Given the description of an element on the screen output the (x, y) to click on. 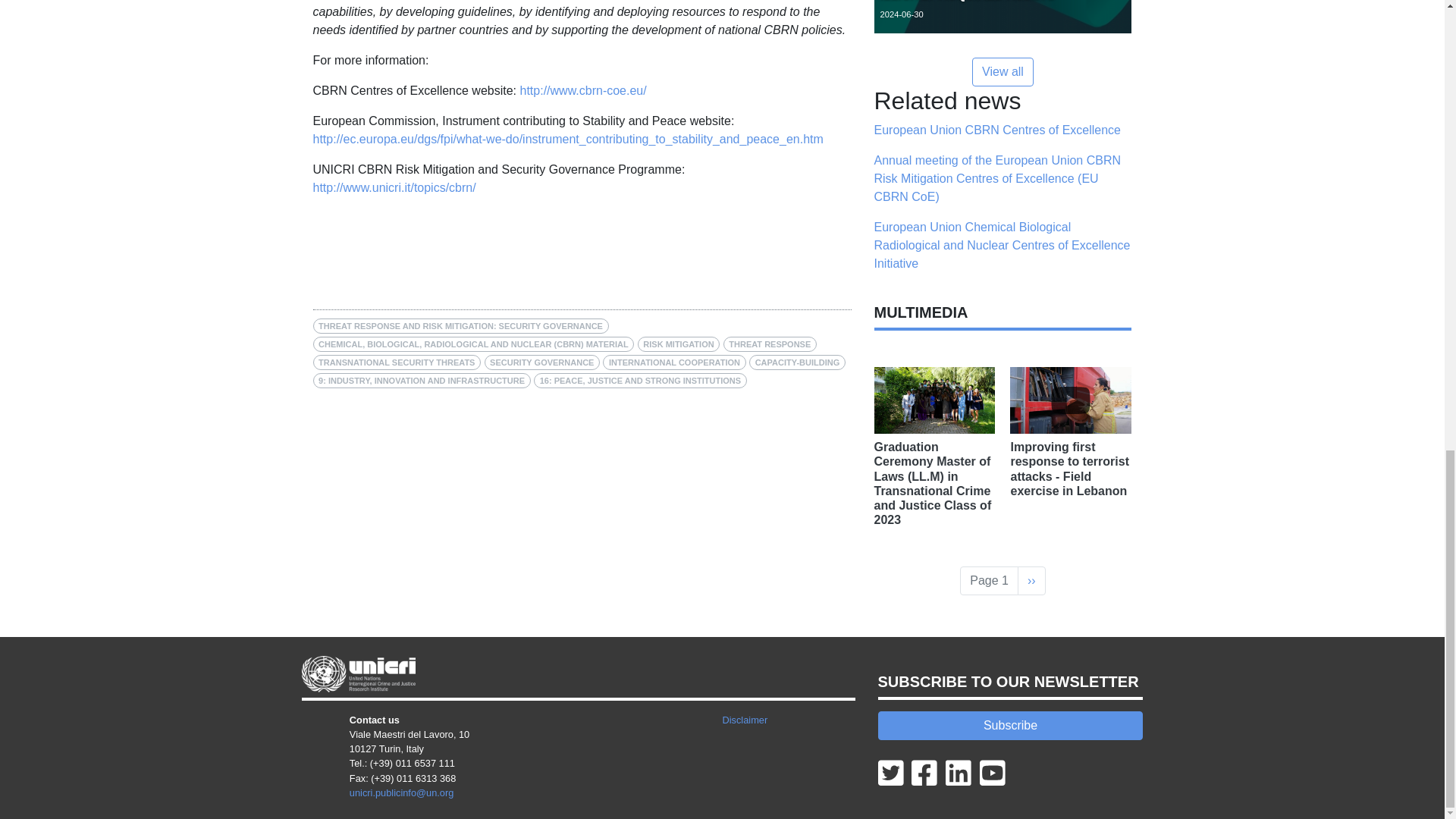
Go to next page (1031, 580)
